Given the description of an element on the screen output the (x, y) to click on. 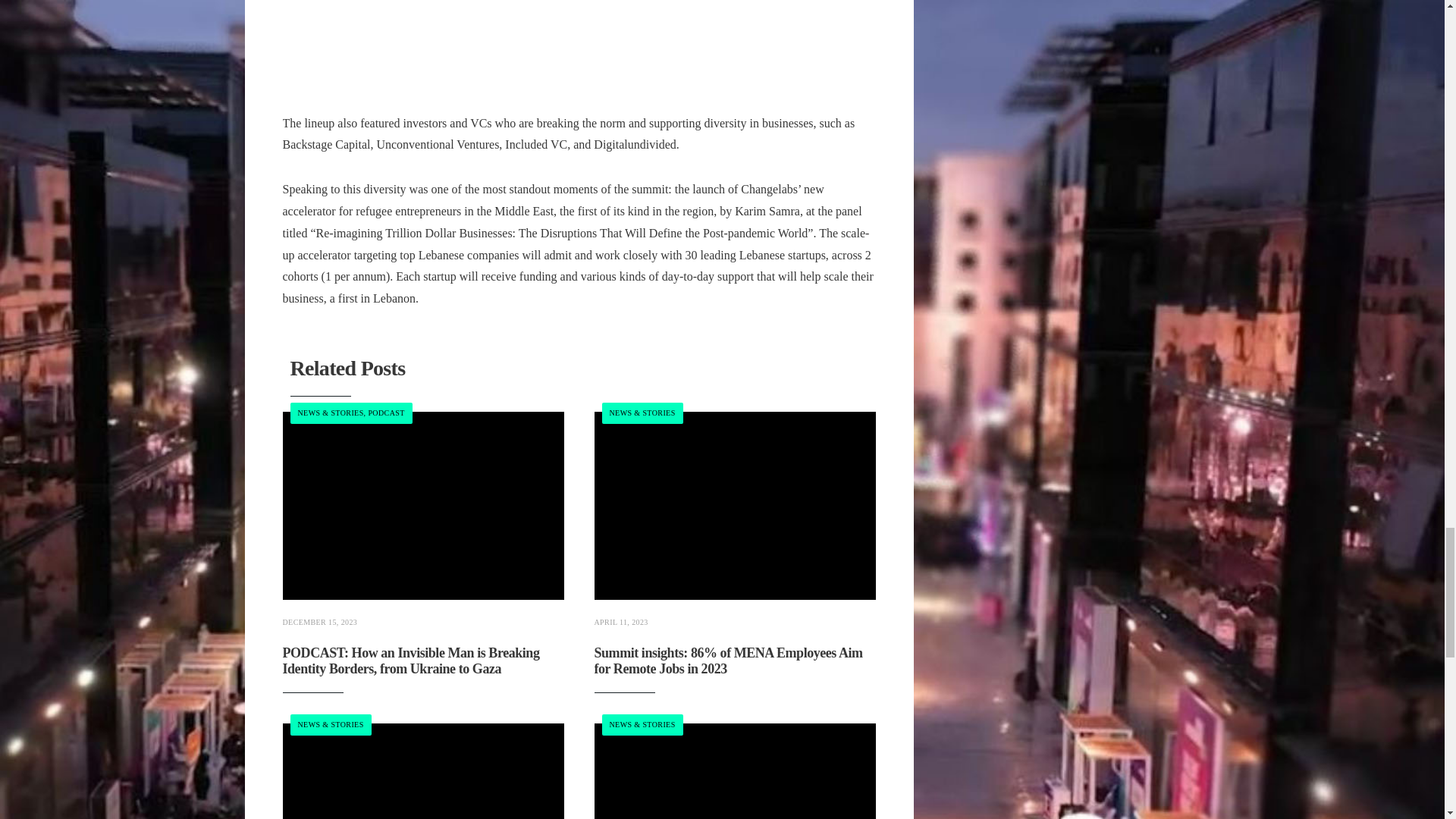
PODCAST (386, 412)
